Given the description of an element on the screen output the (x, y) to click on. 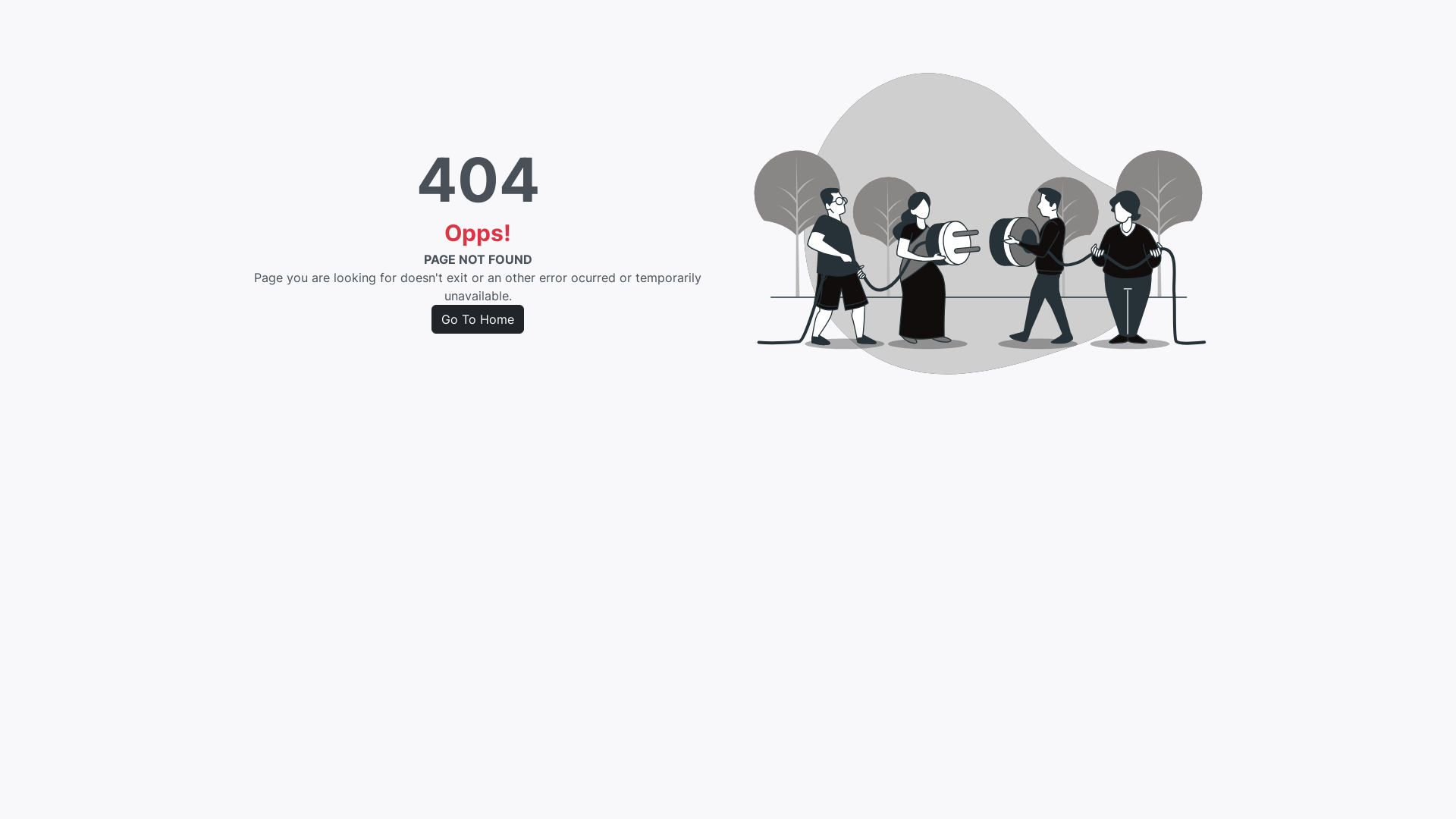
Go To Home Element type: text (477, 318)
